Given the description of an element on the screen output the (x, y) to click on. 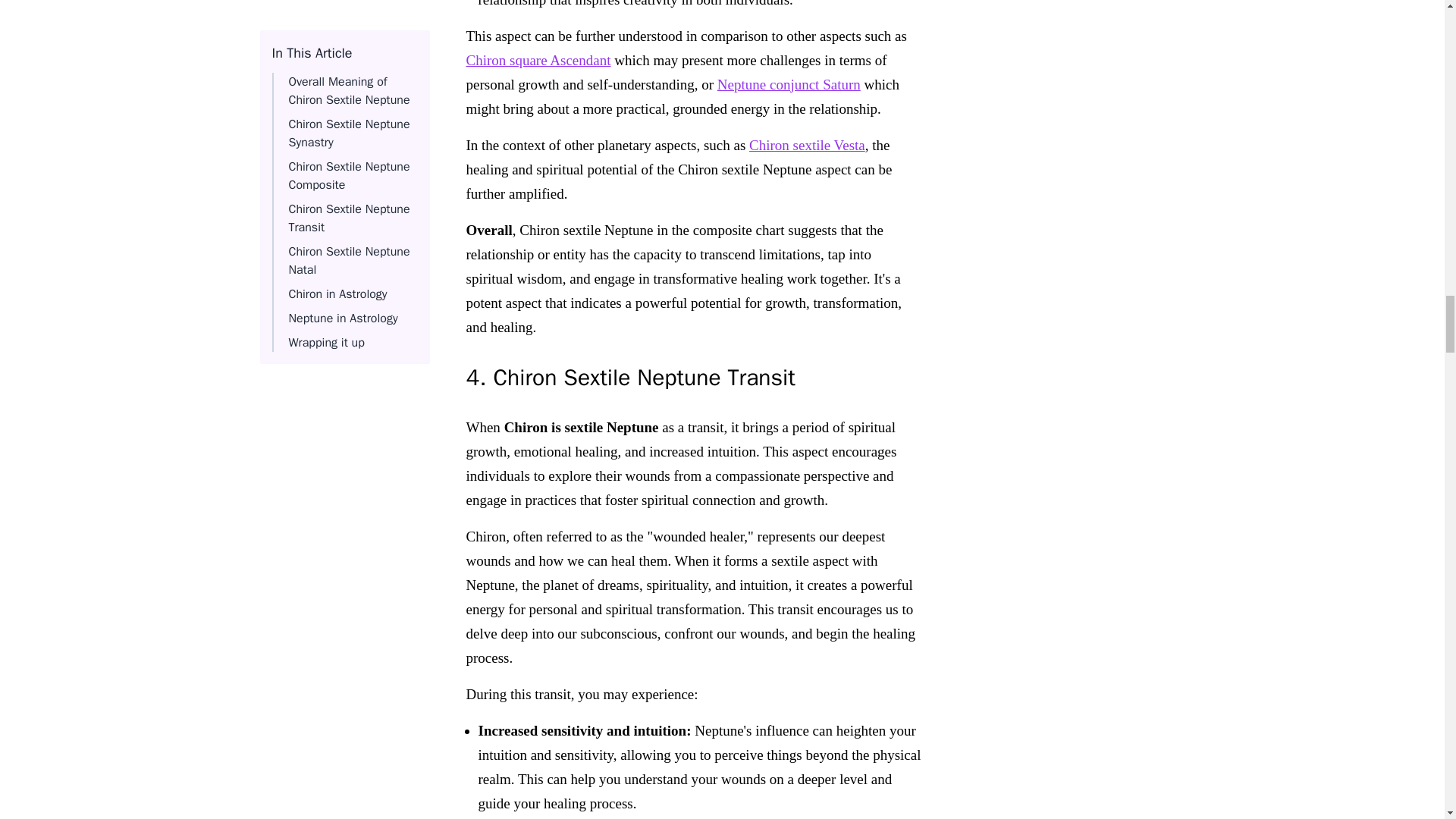
Chiron square Ascendant (537, 59)
Neptune conjunct Saturn (788, 83)
Chiron sextile Vesta (806, 144)
